Given the description of an element on the screen output the (x, y) to click on. 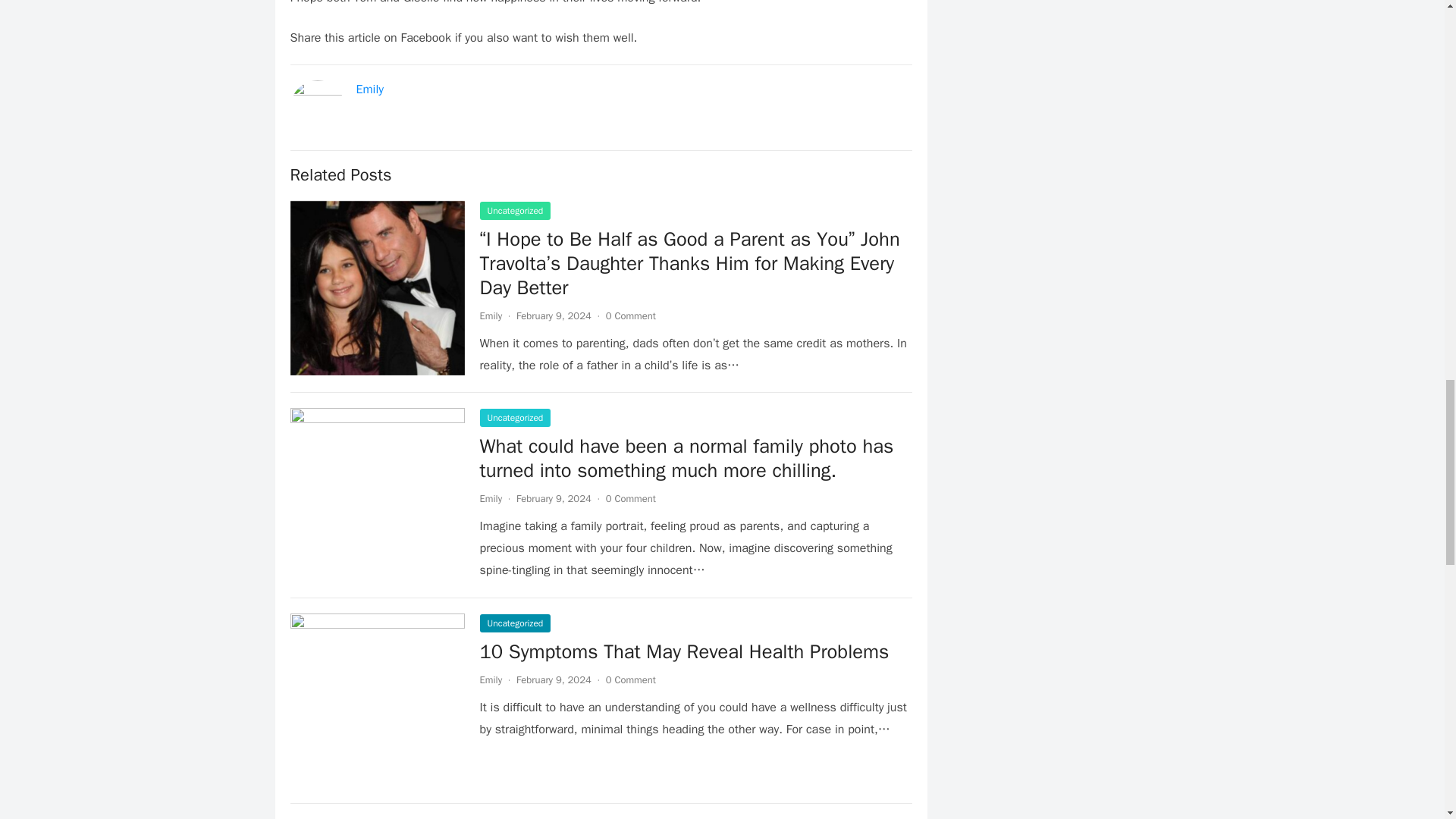
Uncategorized (514, 417)
Emily (490, 315)
Emily (370, 89)
Emily (490, 498)
0 Comment (630, 679)
Posts by Emily (490, 315)
Emily (490, 679)
10 Symptoms That May Reveal Health Problems (683, 651)
0 Comment (630, 315)
Posts by Emily (490, 679)
0 Comment (630, 498)
Uncategorized (514, 623)
Posts by Emily (490, 498)
Uncategorized (514, 210)
